Given the description of an element on the screen output the (x, y) to click on. 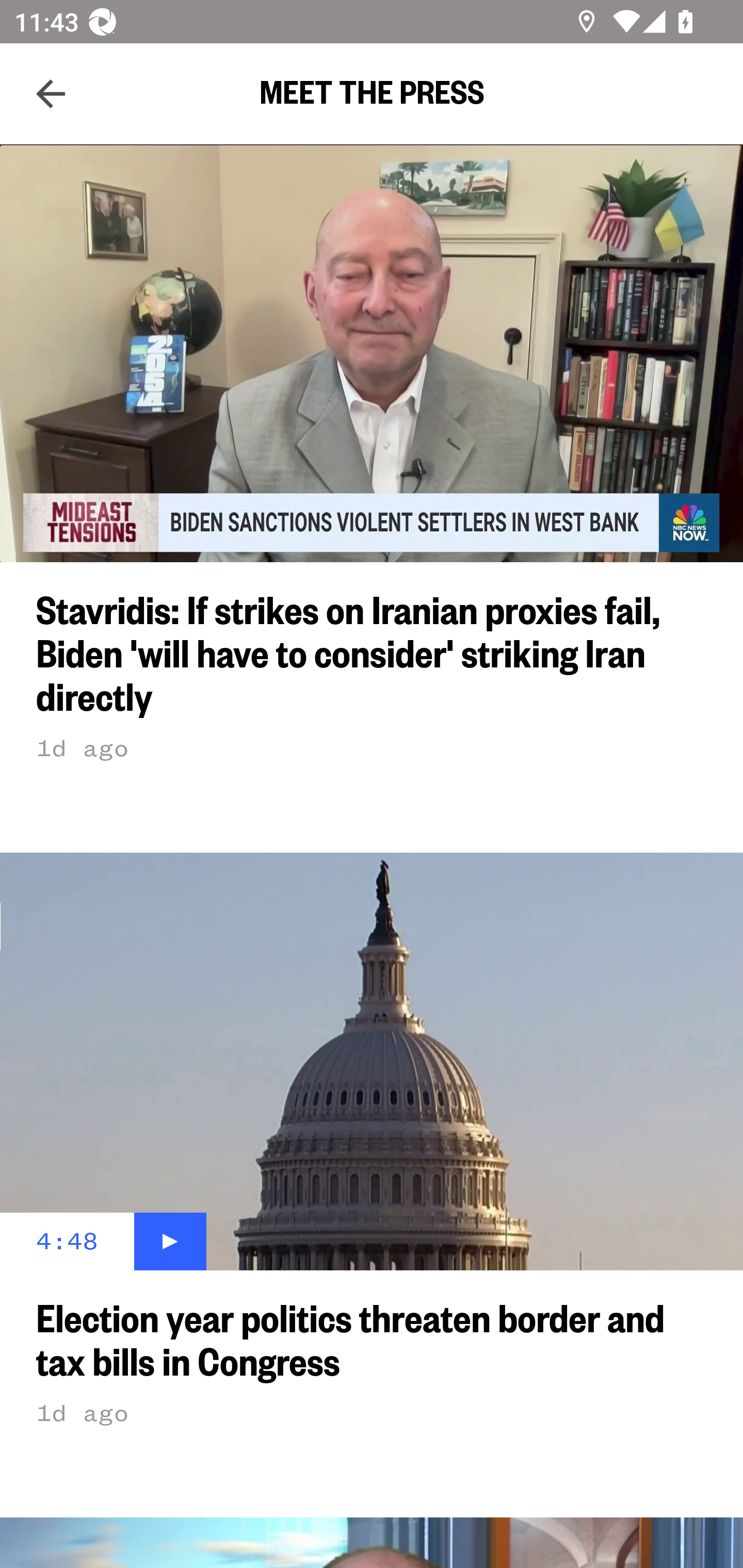
Navigate up (50, 93)
